Given the description of an element on the screen output the (x, y) to click on. 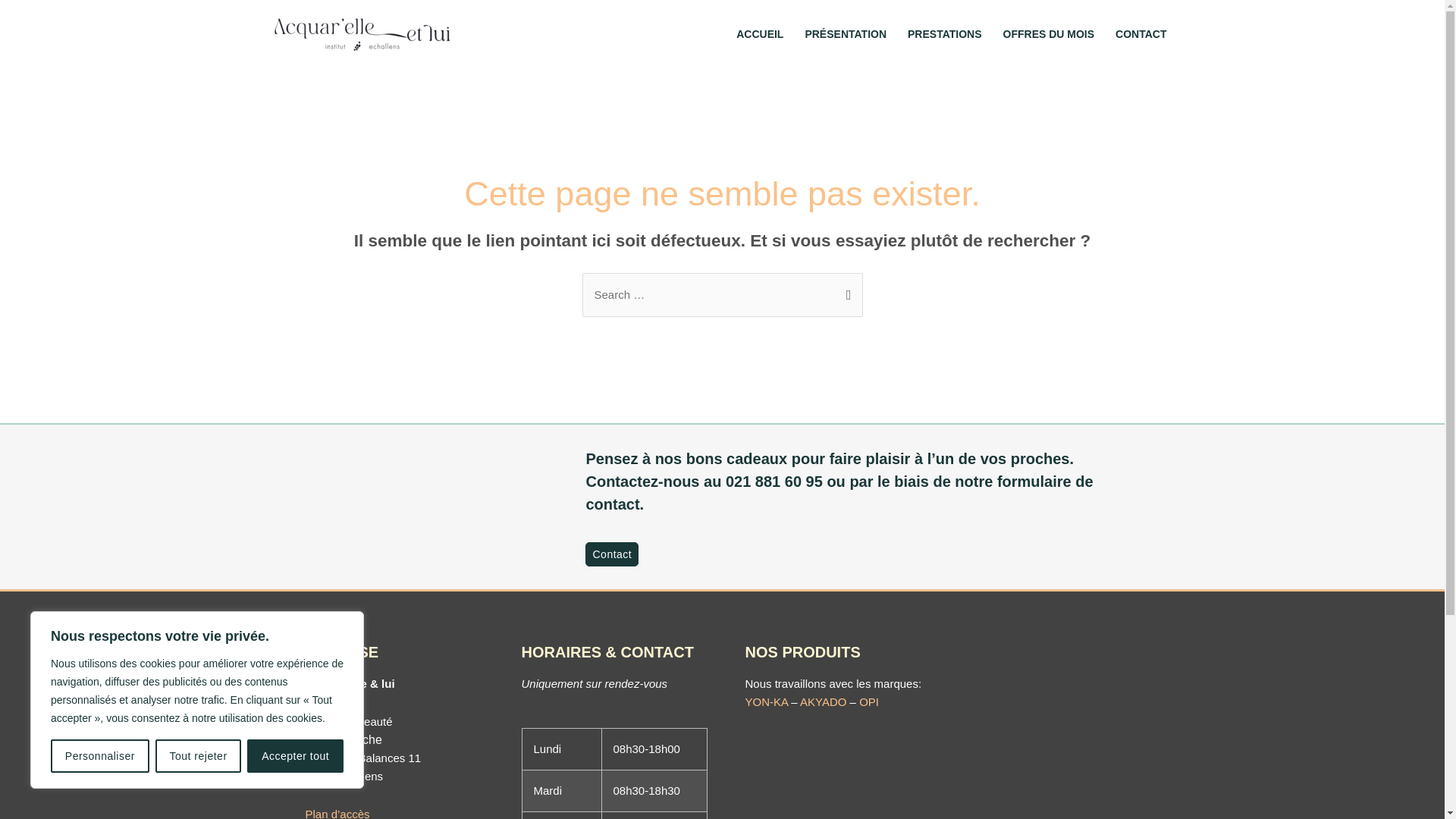
OPI Element type: text (868, 701)
AKYADO Element type: text (823, 701)
Personnaliser Element type: text (99, 755)
OFFRES DU MOIS Element type: text (1048, 33)
CONTACT Element type: text (1140, 33)
YON-KA Element type: text (765, 701)
Rechercher Element type: text (845, 288)
PRESTATIONS Element type: text (944, 33)
ACCUEIL Element type: text (759, 33)
Tout rejeter Element type: text (198, 755)
Contact Element type: text (611, 554)
Accepter tout Element type: text (295, 755)
